Given the description of an element on the screen output the (x, y) to click on. 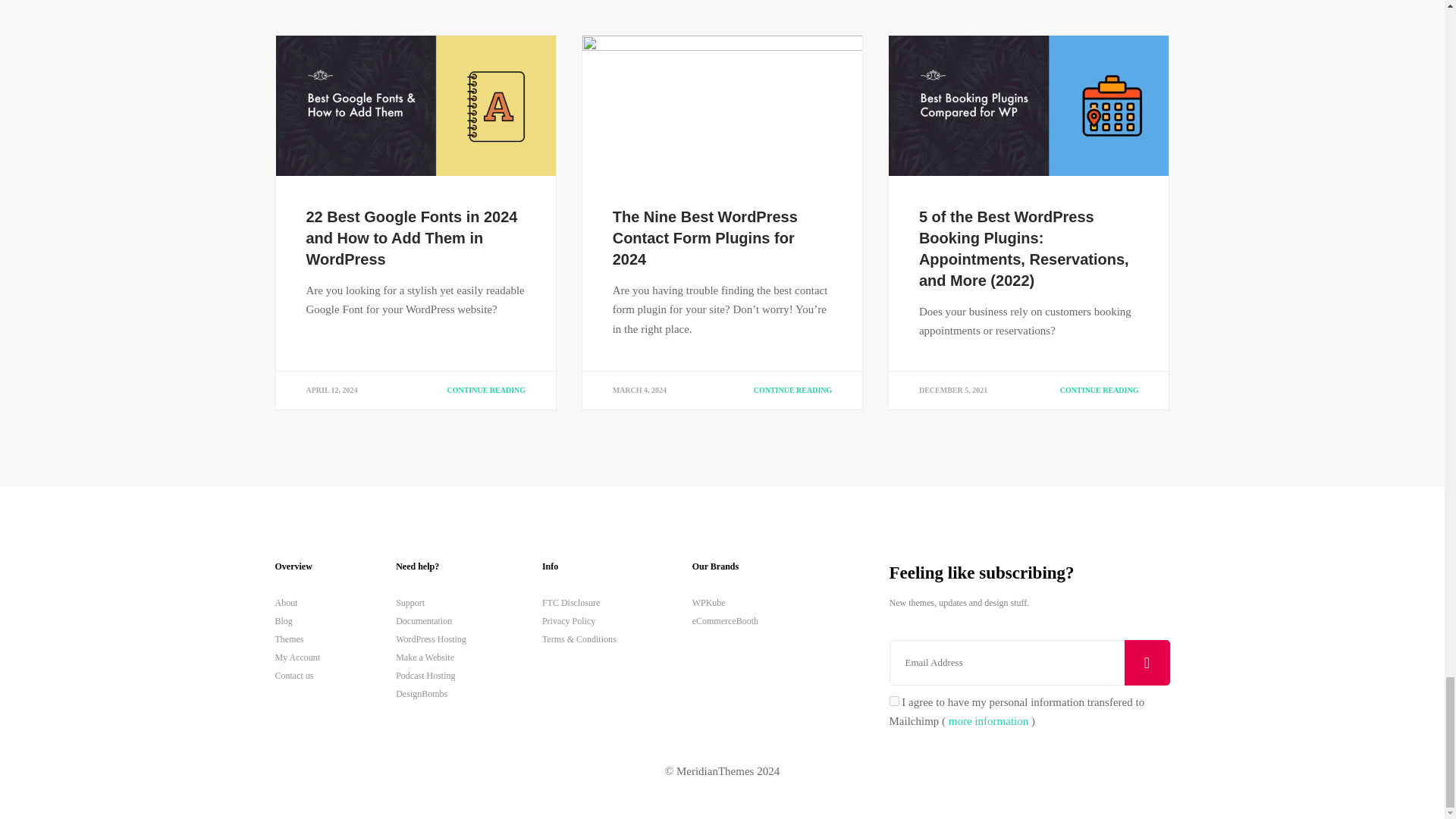
The Nine Best WordPress Contact Form Plugins for 2024 (704, 237)
Privacy Policy (578, 620)
Themes (297, 638)
on (893, 700)
WPKube (725, 602)
Podcast Hosting (430, 675)
FTC Disclosure (578, 602)
About (297, 602)
Support (430, 602)
